Given the description of an element on the screen output the (x, y) to click on. 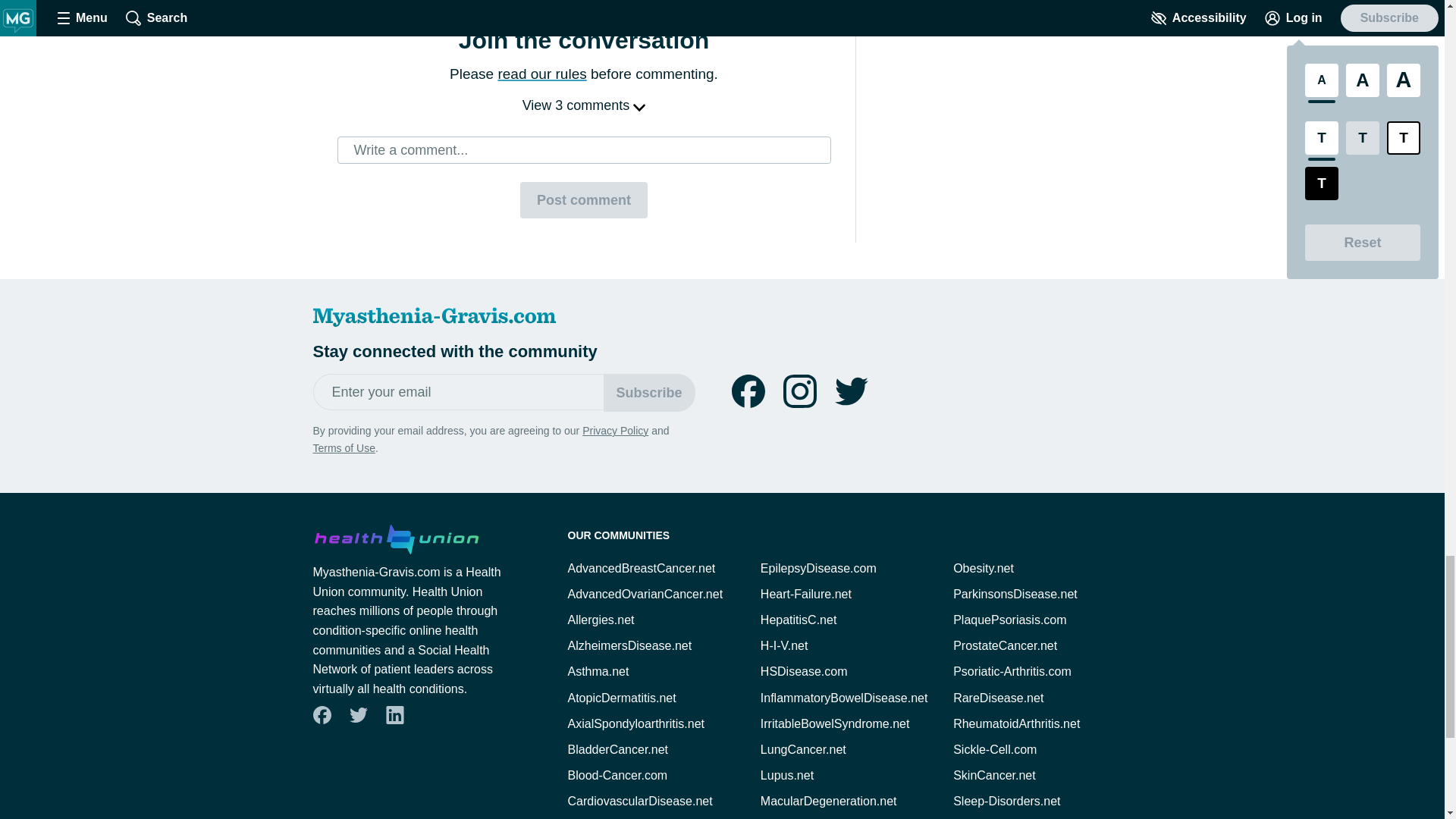
Follow us on twitter (850, 390)
Follow us on instagram (799, 390)
read our rules (541, 73)
Follow us on facebook (321, 714)
Follow us on facebook (747, 390)
caret icon (639, 106)
View 3 comments caret icon (584, 104)
